Given the description of an element on the screen output the (x, y) to click on. 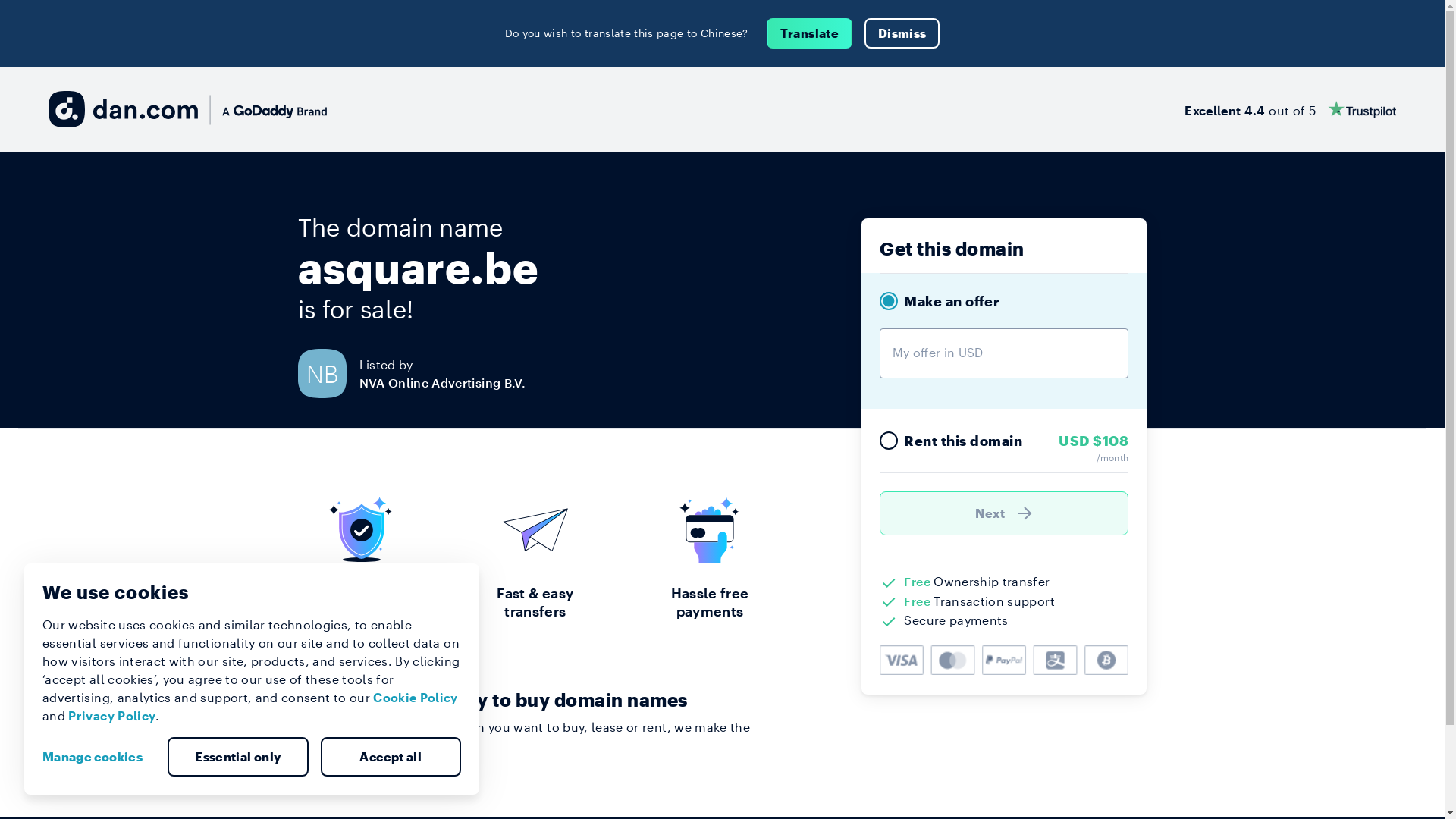
Excellent 4.4 out of 5 Element type: text (1290, 109)
Accept all Element type: text (390, 756)
Privacy Policy Element type: text (111, 715)
Manage cookies Element type: text (98, 756)
Cookie Policy Element type: text (415, 697)
Next
) Element type: text (1003, 513)
Dismiss Element type: text (901, 33)
Translate Element type: text (809, 33)
Essential only Element type: text (237, 756)
